Given the description of an element on the screen output the (x, y) to click on. 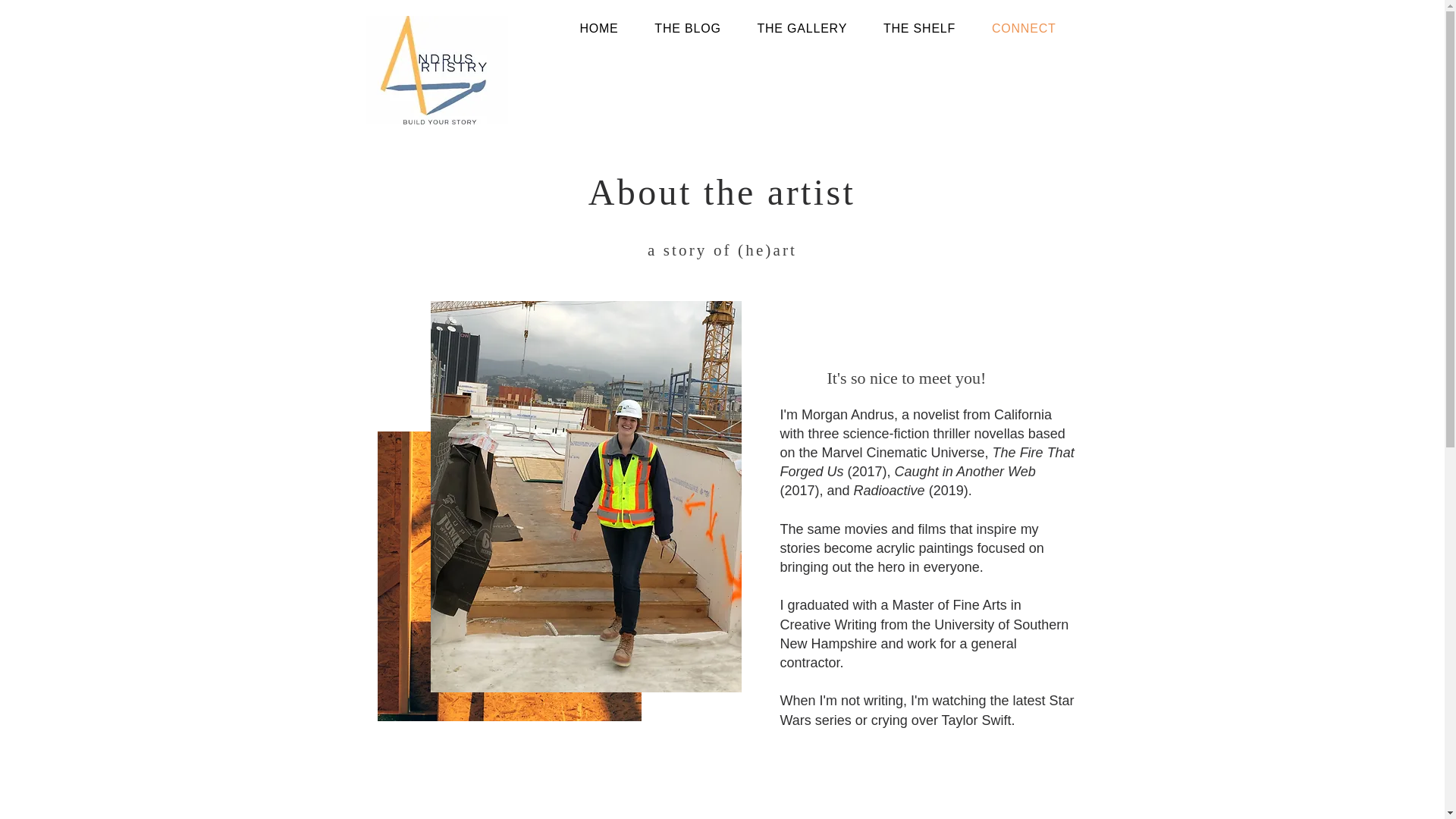
THE GALLERY (802, 28)
THE SHELF (919, 28)
HOME (598, 28)
CONNECT (1023, 28)
THE BLOG (687, 28)
